Given the description of an element on the screen output the (x, y) to click on. 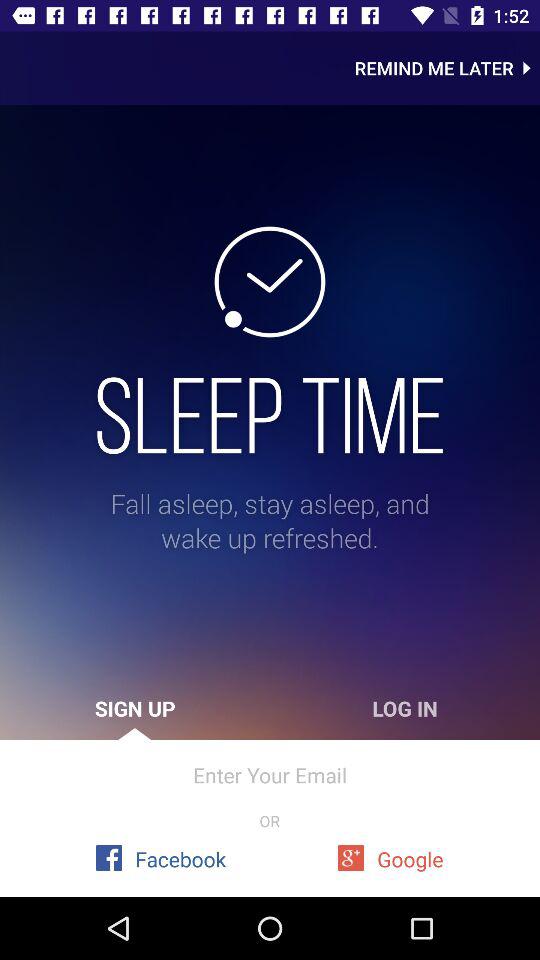
turn on sign up icon (135, 707)
